Given the description of an element on the screen output the (x, y) to click on. 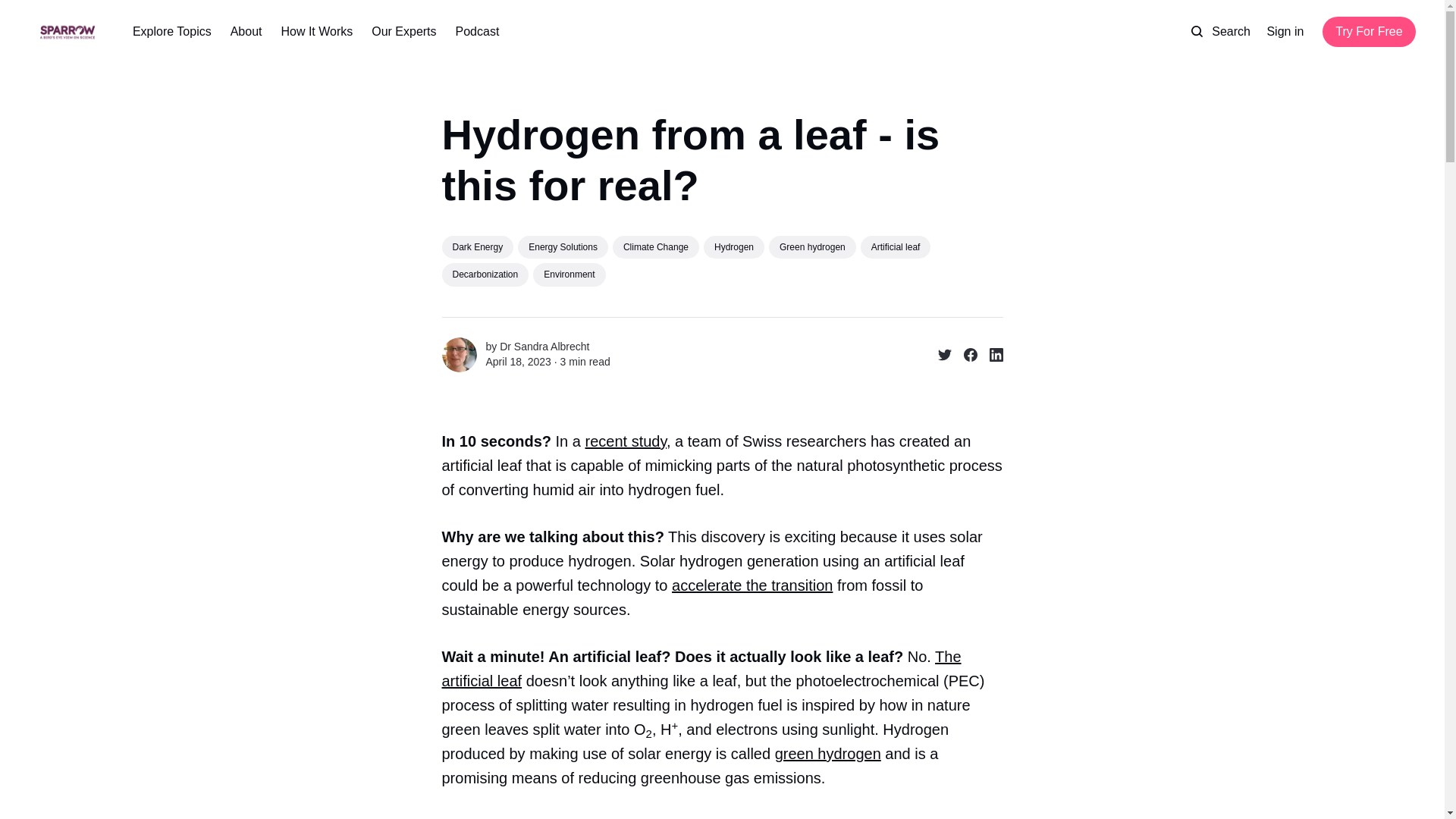
recent study (625, 441)
accelerate the transition (751, 585)
Dark Energy (477, 246)
Energy Solutions (563, 246)
Dr Sandra Albrecht (544, 346)
Sign in (1284, 31)
The artificial leaf (700, 668)
Environment (568, 273)
Our Experts (403, 31)
Artificial leaf (895, 246)
Green hydrogen (812, 246)
green hydrogen (827, 753)
Try For Free (1368, 31)
Climate Change (655, 246)
How It Works (316, 31)
